Given the description of an element on the screen output the (x, y) to click on. 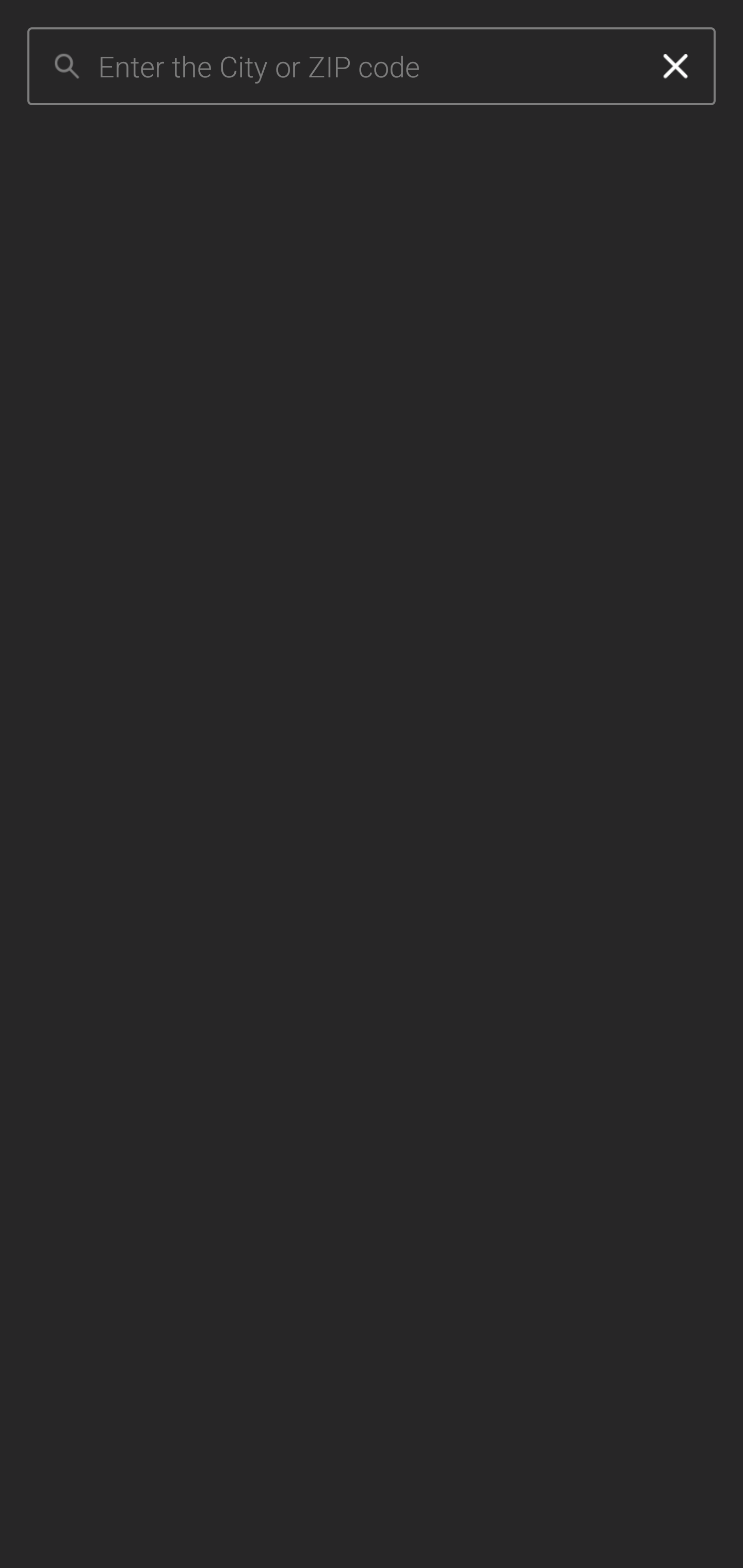
Enter the City or ZIP code (367, 66)
